Given the description of an element on the screen output the (x, y) to click on. 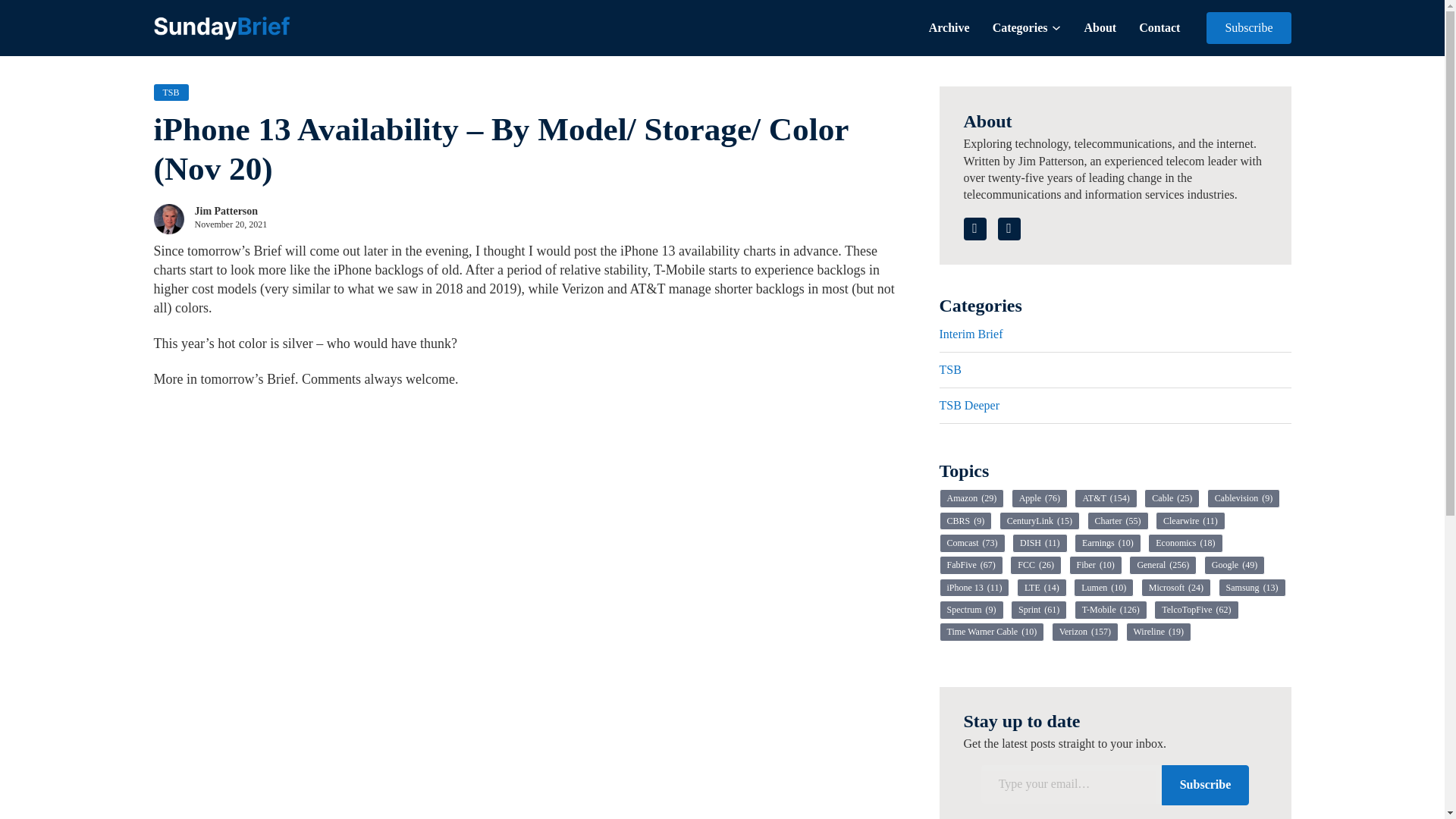
Archive (948, 27)
Subscribe (1248, 28)
Contact (1158, 27)
Please fill in this field. (1071, 783)
Categories (1020, 27)
About (1099, 27)
